Given the description of an element on the screen output the (x, y) to click on. 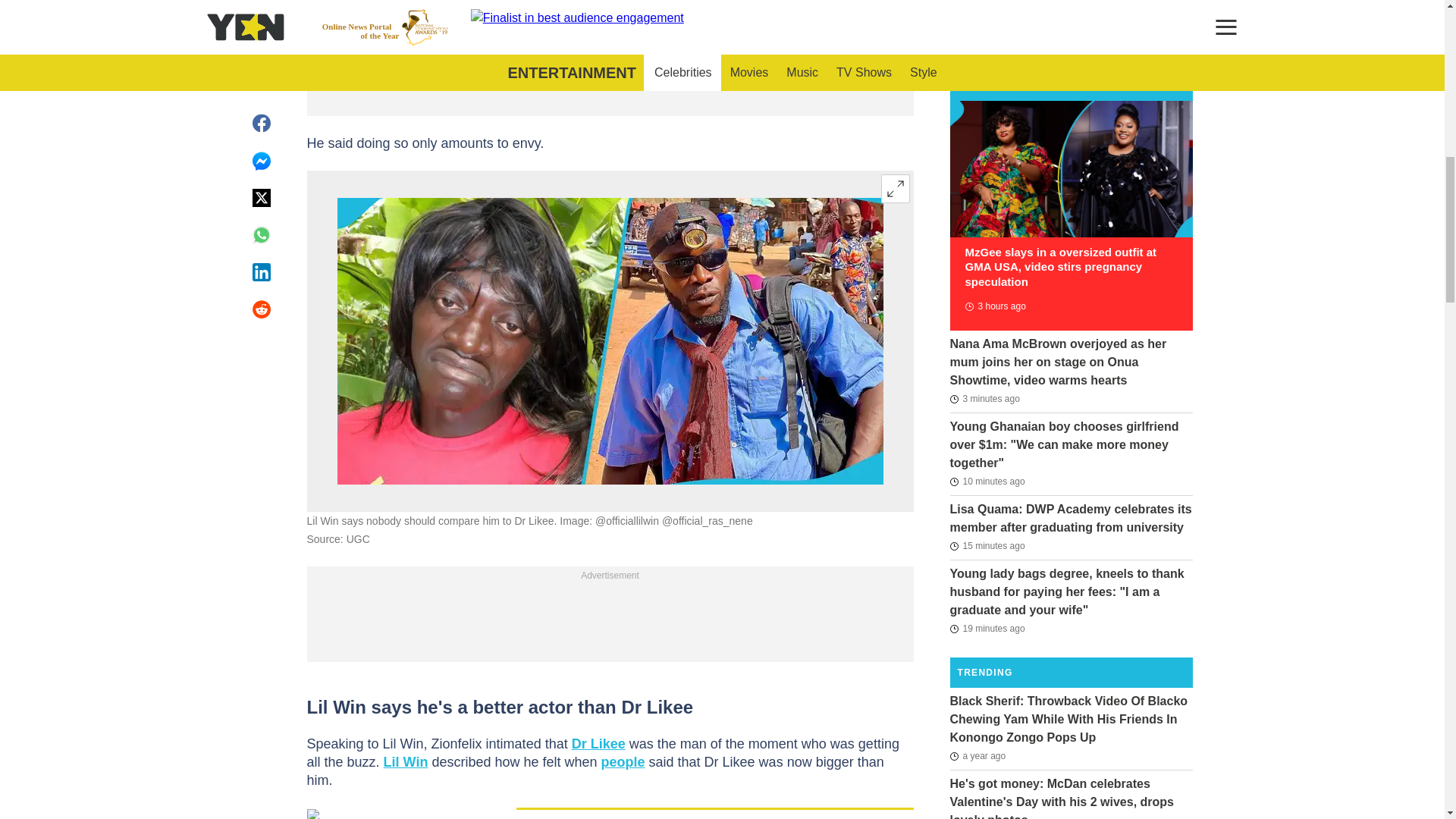
2024-08-19T12:07:53Z (984, 398)
Expand image (895, 188)
2024-08-19T11:55:45Z (987, 546)
2024-08-19T09:02:48Z (994, 306)
2024-08-19T12:00:52Z (987, 481)
2024-08-19T11:51:13Z (987, 628)
2022-10-19T08:18:55Z (977, 755)
